Given the description of an element on the screen output the (x, y) to click on. 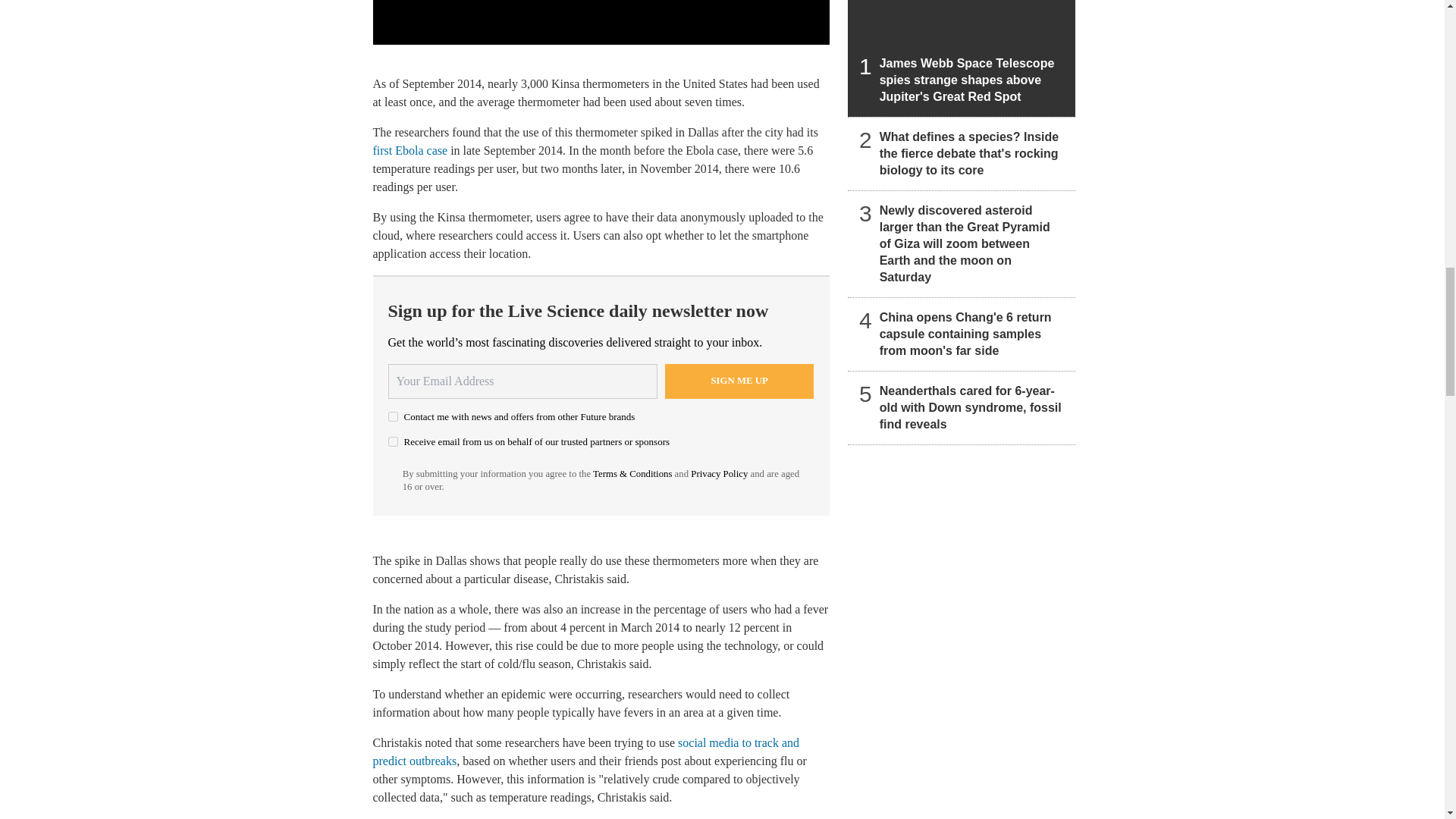
on (392, 441)
on (392, 416)
Sign me up (739, 380)
